Given the description of an element on the screen output the (x, y) to click on. 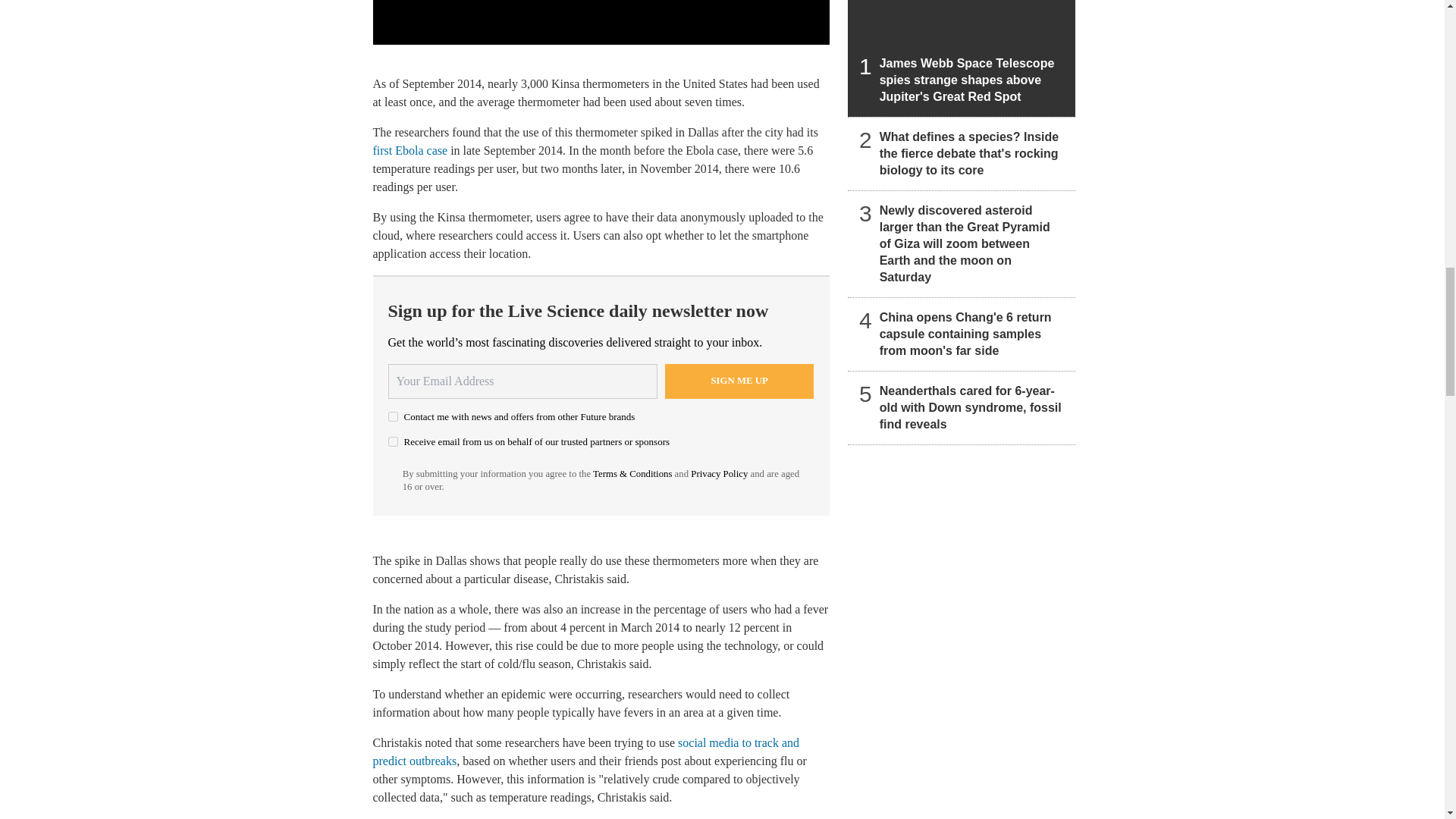
on (392, 441)
on (392, 416)
Sign me up (739, 380)
